Given the description of an element on the screen output the (x, y) to click on. 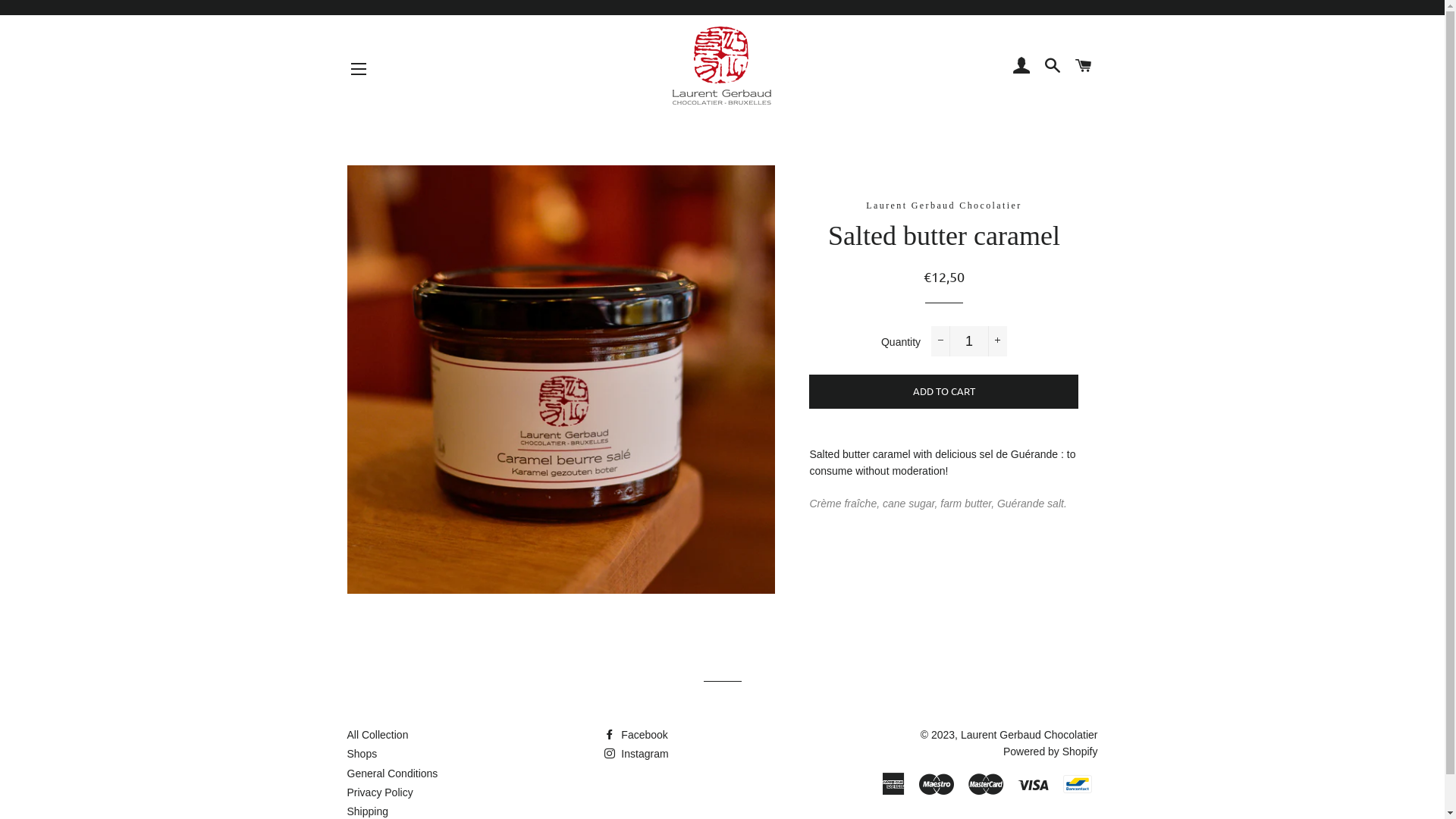
Shops Element type: text (362, 753)
+ Element type: text (997, 341)
Shipping Element type: text (368, 811)
Laurent Gerbaud Chocolatier Element type: text (1029, 734)
General Conditions Element type: text (392, 773)
Powered by Shopify Element type: text (1050, 751)
Instagram Element type: text (636, 753)
CART Element type: text (1083, 64)
All Collection Element type: text (377, 734)
Privacy Policy Element type: text (380, 792)
Facebook Element type: text (635, 734)
SEARCH Element type: text (1052, 64)
LOG IN Element type: text (1021, 64)
SITE NAVIGATION Element type: text (358, 68)
ADD TO CART Element type: text (943, 390)
